Given the description of an element on the screen output the (x, y) to click on. 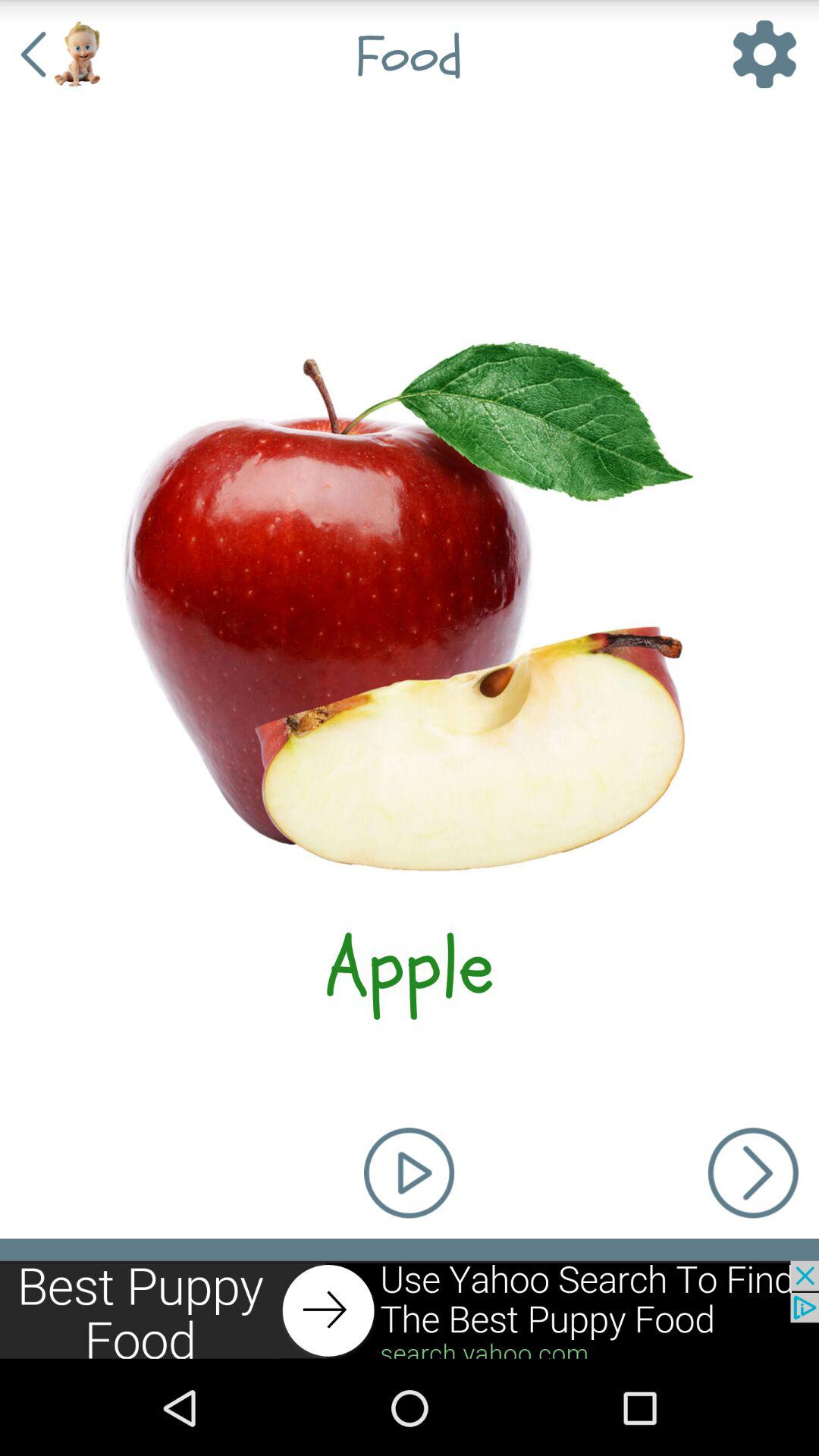
move (409, 1310)
